Given the description of an element on the screen output the (x, y) to click on. 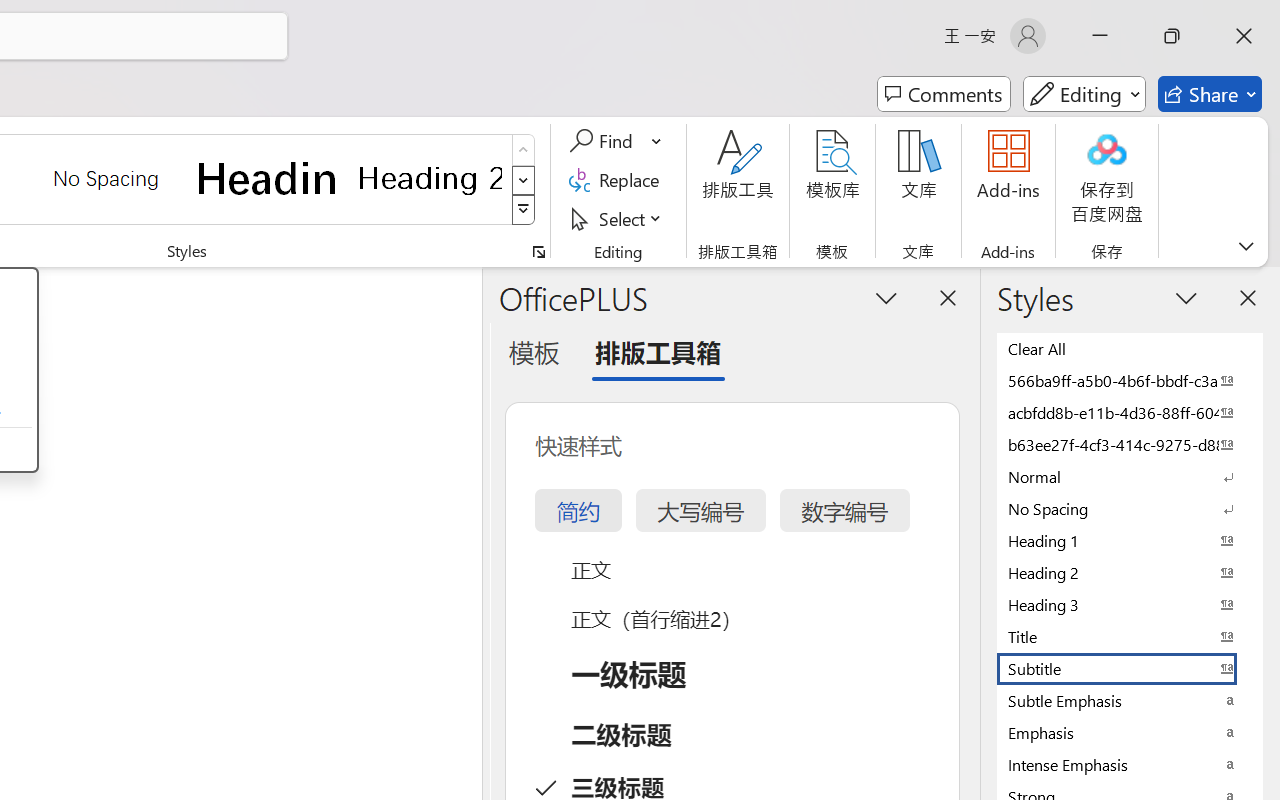
Ribbon Display Options (1246, 245)
Minimize (1099, 36)
Row up (523, 150)
